Given the description of an element on the screen output the (x, y) to click on. 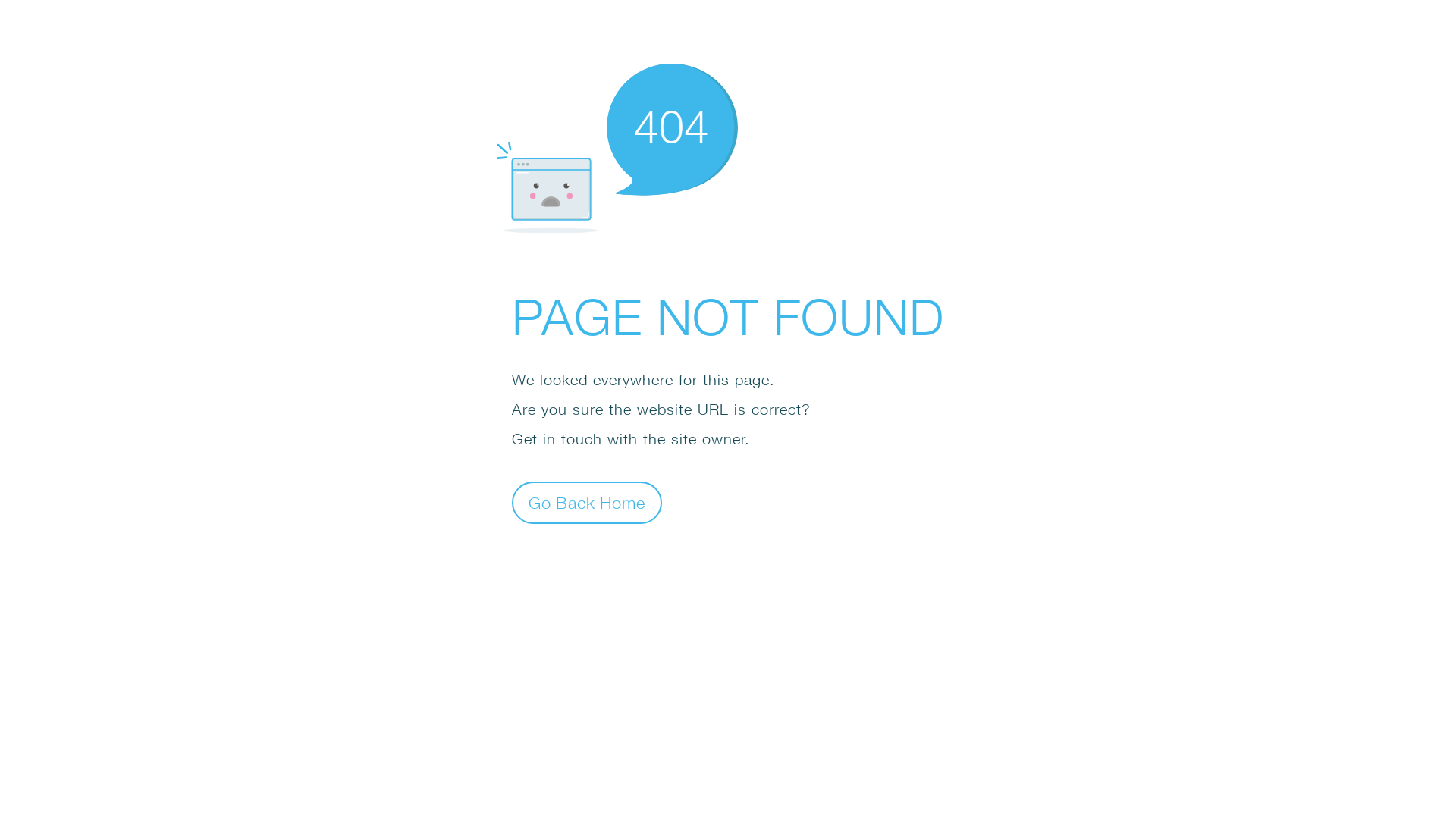
Go Back Home Element type: text (586, 502)
